Given the description of an element on the screen output the (x, y) to click on. 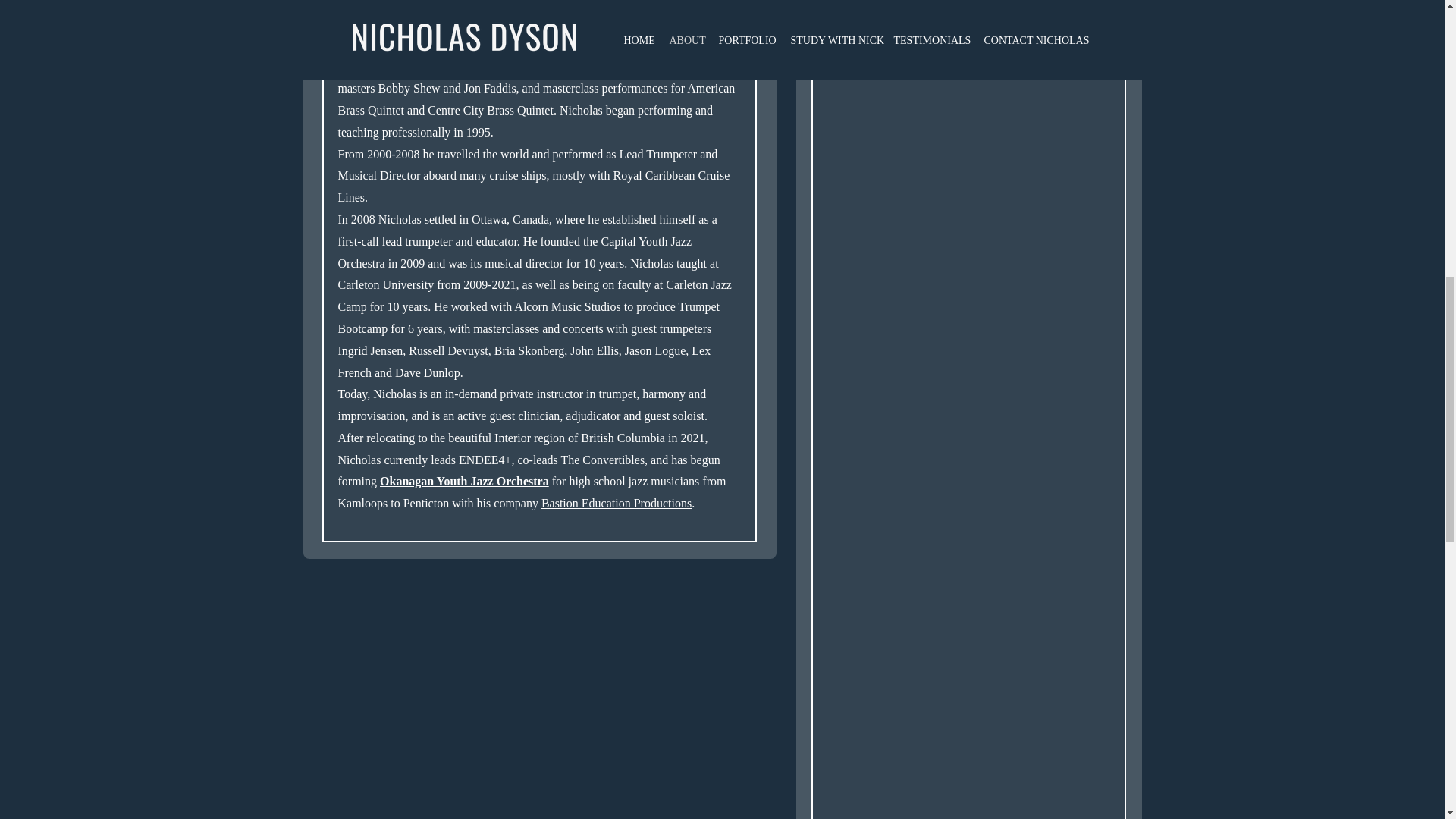
Okanagan Youth Jazz Orchestra (464, 481)
Bastion Education Productions (616, 502)
